Given the description of an element on the screen output the (x, y) to click on. 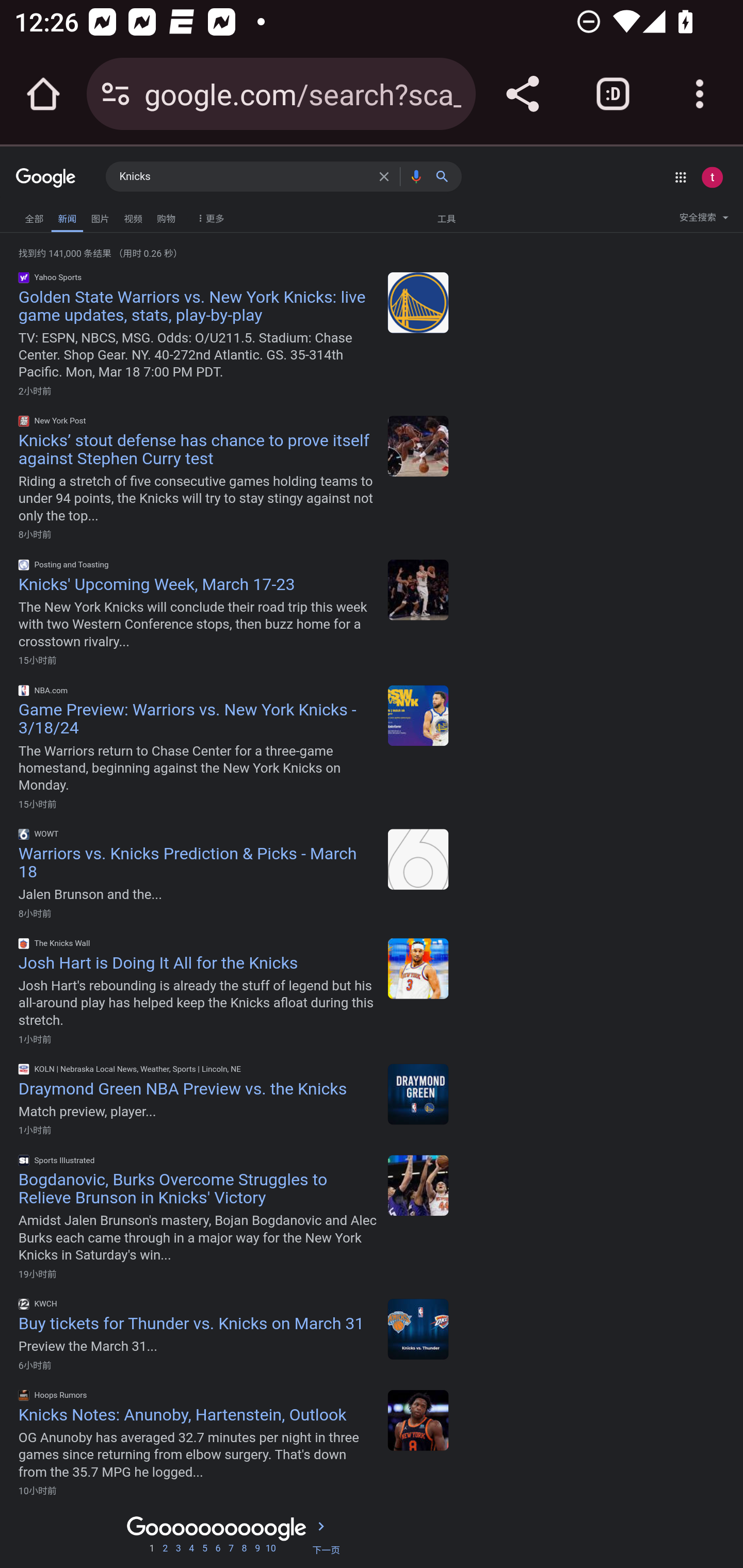
Open the home page (43, 93)
Connection is secure (115, 93)
Share (522, 93)
Switch or close tabs (612, 93)
Customize and control Google Chrome (699, 93)
清除 (386, 176)
按语音搜索 (415, 176)
Google 搜索 (446, 176)
Google 应用 (680, 176)
Google 账号： test appium (testappium002@gmail.com) (712, 176)
Google (45, 178)
Knicks (244, 177)
全部 (33, 216)
新闻 (67, 217)
图片 (99, 216)
视频 (133, 216)
购物 (166, 216)
More Filters (208, 213)
安全搜索 (703, 219)
工具 (446, 217)
